Given the description of an element on the screen output the (x, y) to click on. 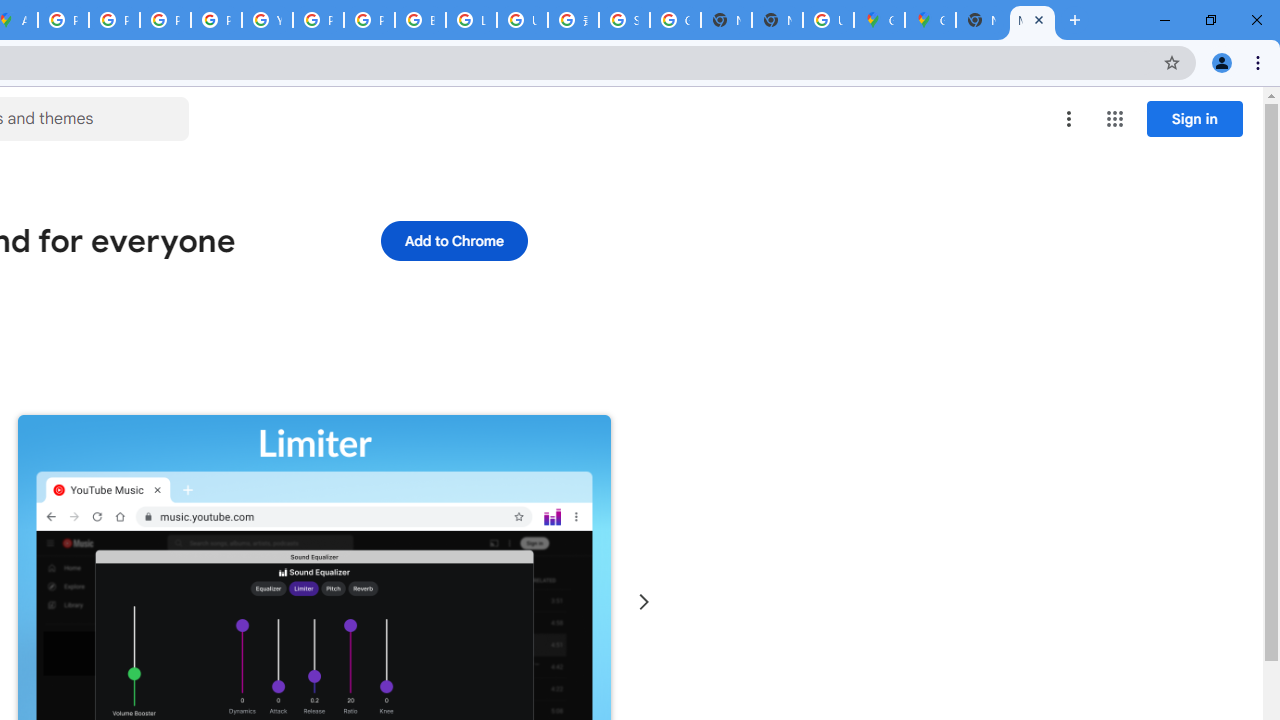
Chrome (1260, 62)
New Tab (981, 20)
Bookmark this tab (1171, 62)
Policy Accountability and Transparency - Transparency Center (63, 20)
Google Maps (878, 20)
Restore (1210, 20)
New Tab (1075, 20)
You (1221, 62)
New Tab (776, 20)
YouTube (267, 20)
Use Google Maps in Space - Google Maps Help (827, 20)
More options menu (1069, 118)
